Given the description of an element on the screen output the (x, y) to click on. 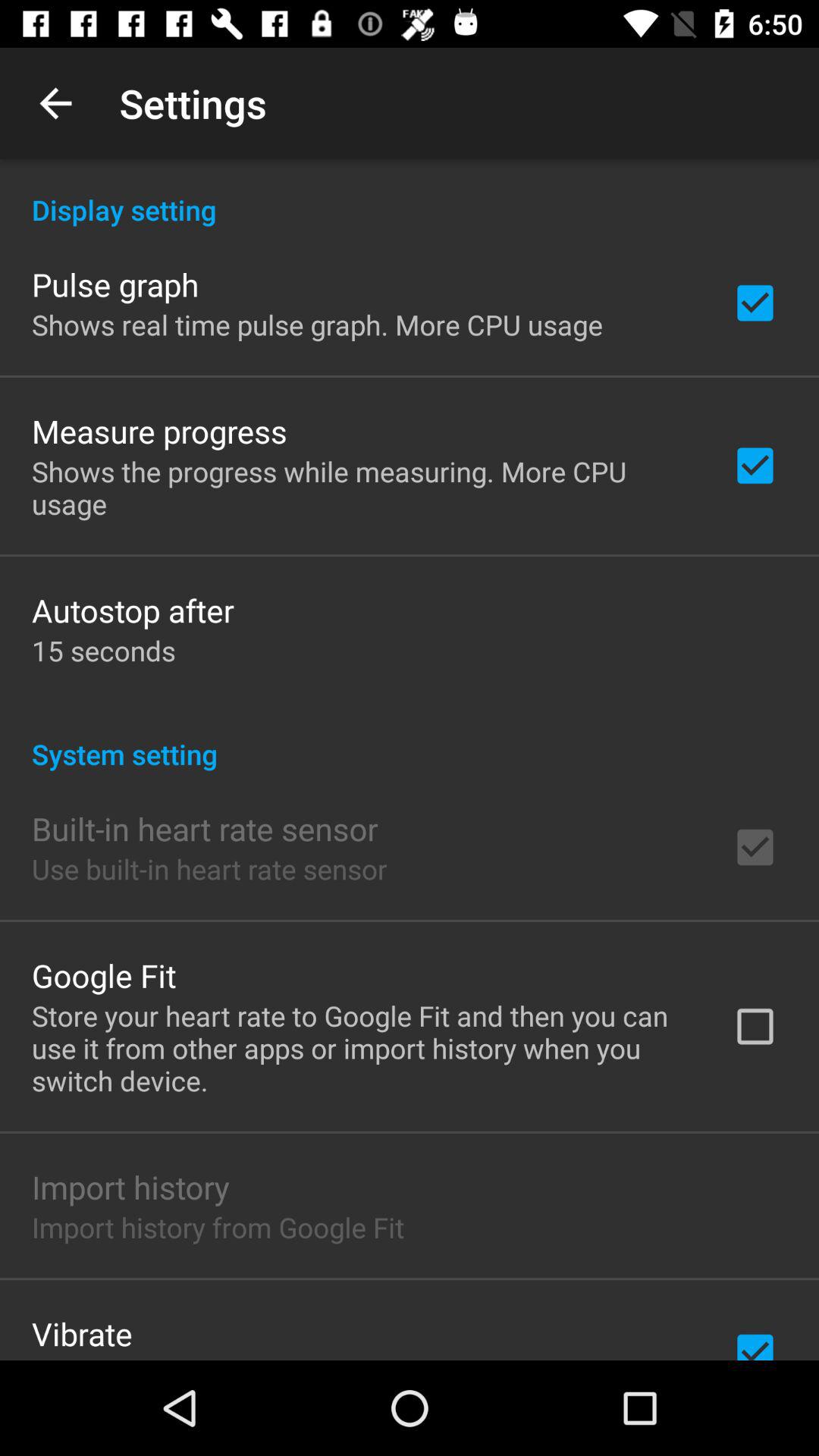
turn on item above the system setting item (103, 650)
